Given the description of an element on the screen output the (x, y) to click on. 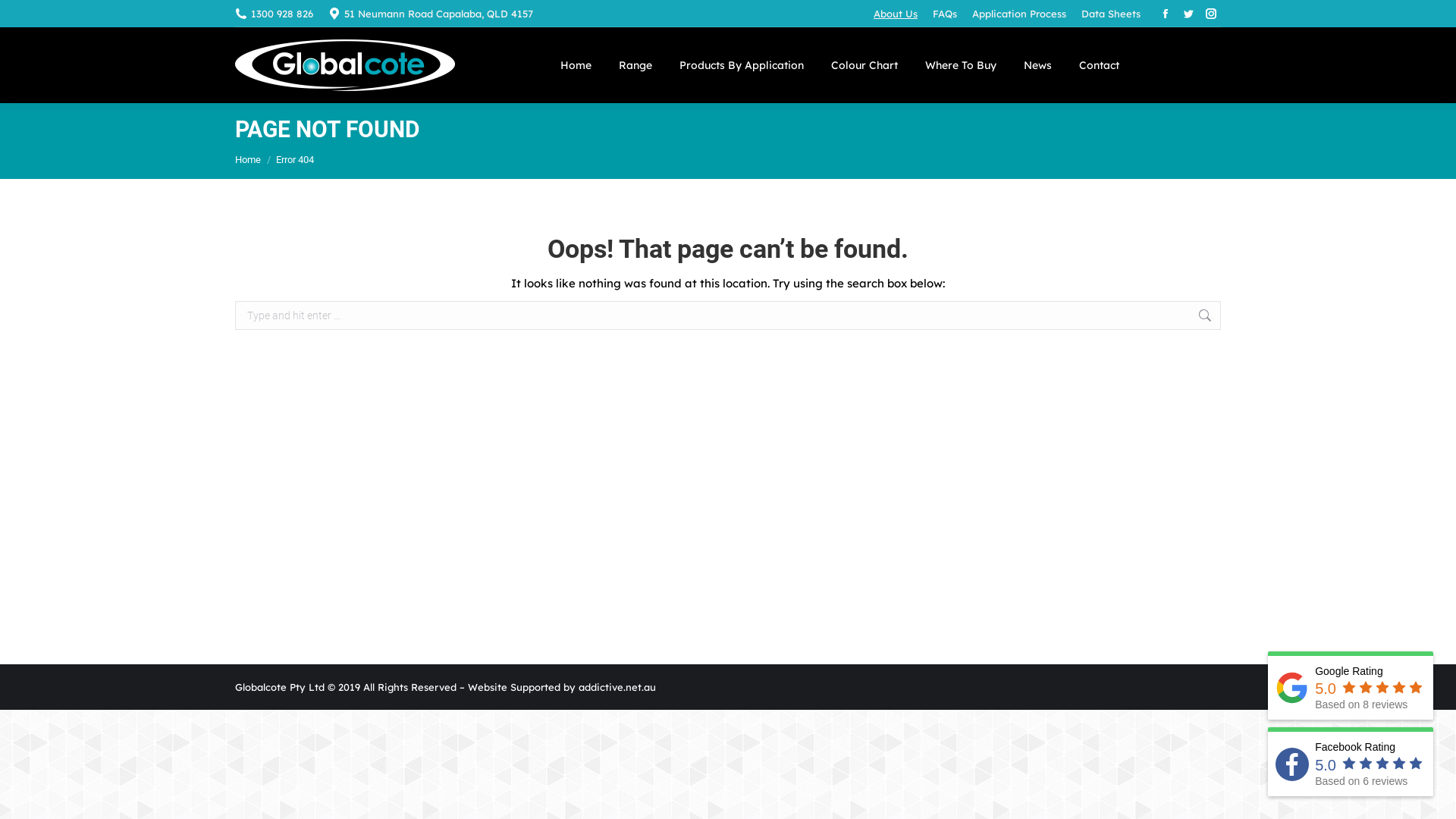
Where To Buy Element type: text (960, 64)
Colour Chart Element type: text (864, 64)
1300 928 826 Element type: text (282, 13)
Home Element type: text (575, 64)
Twitter page opens in new window Element type: text (1188, 13)
About Us Element type: text (895, 13)
Facebook page opens in new window Element type: text (1165, 13)
addictive.net.au Element type: text (616, 686)
FAQs Element type: text (944, 13)
Instagram page opens in new window Element type: text (1210, 13)
Range Element type: text (635, 64)
Data Sheets Element type: text (1110, 13)
Products By Application Element type: text (741, 64)
Application Process Element type: text (1019, 13)
Go! Element type: text (1243, 317)
Contact Element type: text (1099, 64)
Home Element type: text (247, 158)
News Element type: text (1037, 64)
